Given the description of an element on the screen output the (x, y) to click on. 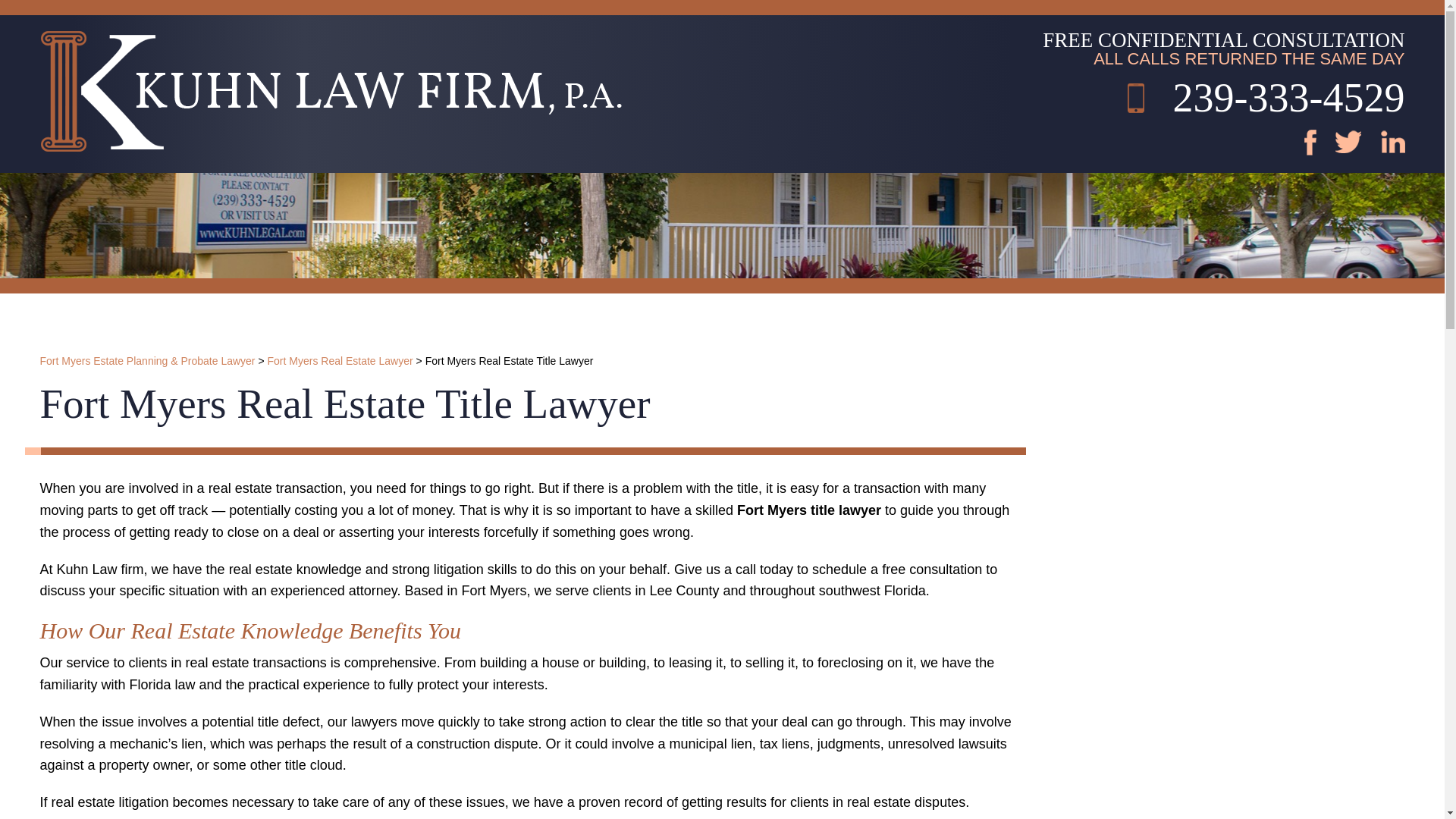
Facebook (1350, 155)
MENU (662, 12)
CALL (711, 12)
Twitter (1368, 155)
LinkedIn (1386, 155)
EMAIL (743, 12)
239-333-4529 (1265, 100)
SEARCH (776, 12)
